Given the description of an element on the screen output the (x, y) to click on. 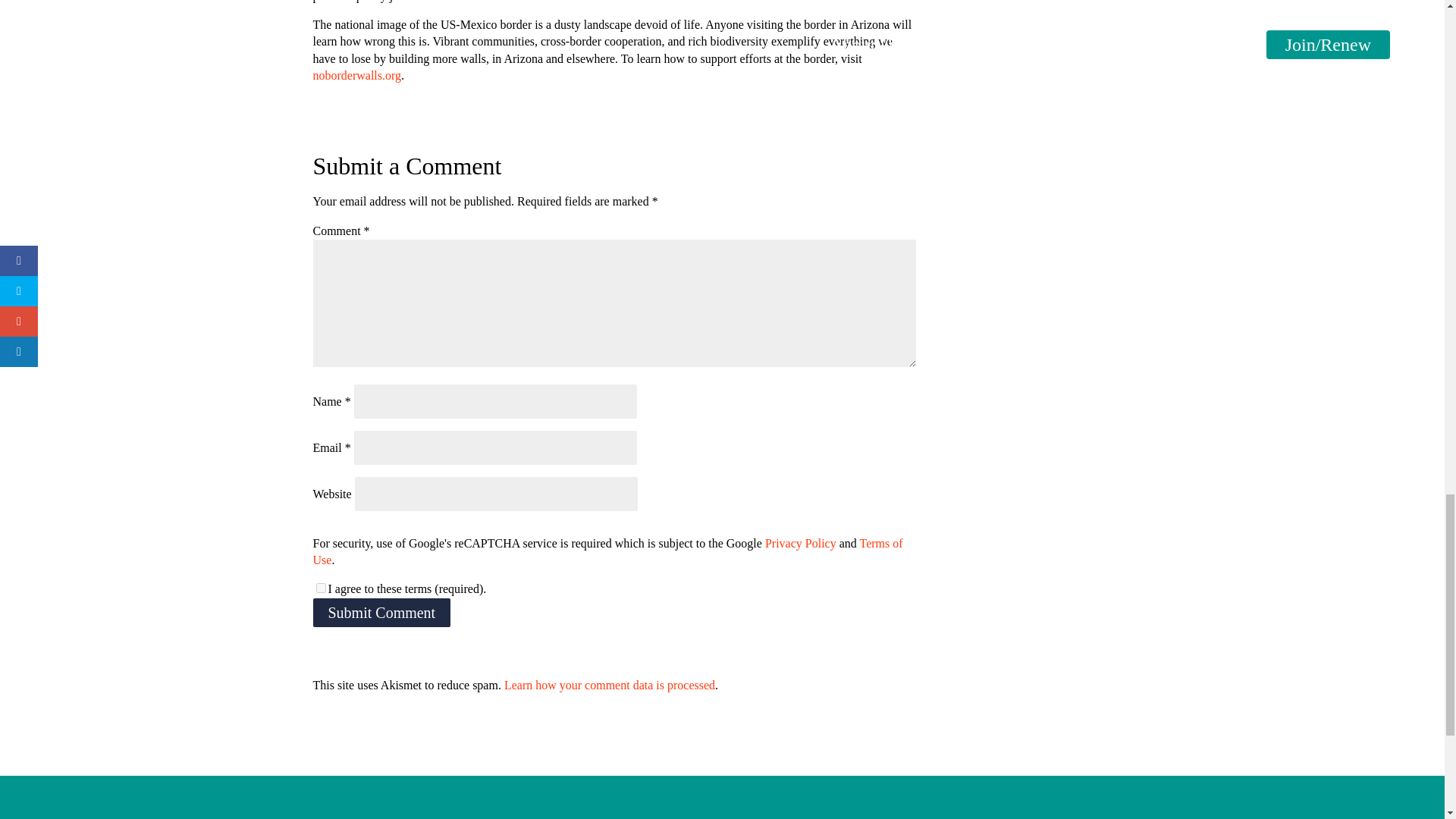
Terms of Use (607, 551)
Privacy Policy (800, 543)
noborderwalls.org (357, 74)
Submit Comment (381, 612)
on (319, 587)
Submit Comment (381, 612)
Learn how your comment data is processed (608, 684)
